Given the description of an element on the screen output the (x, y) to click on. 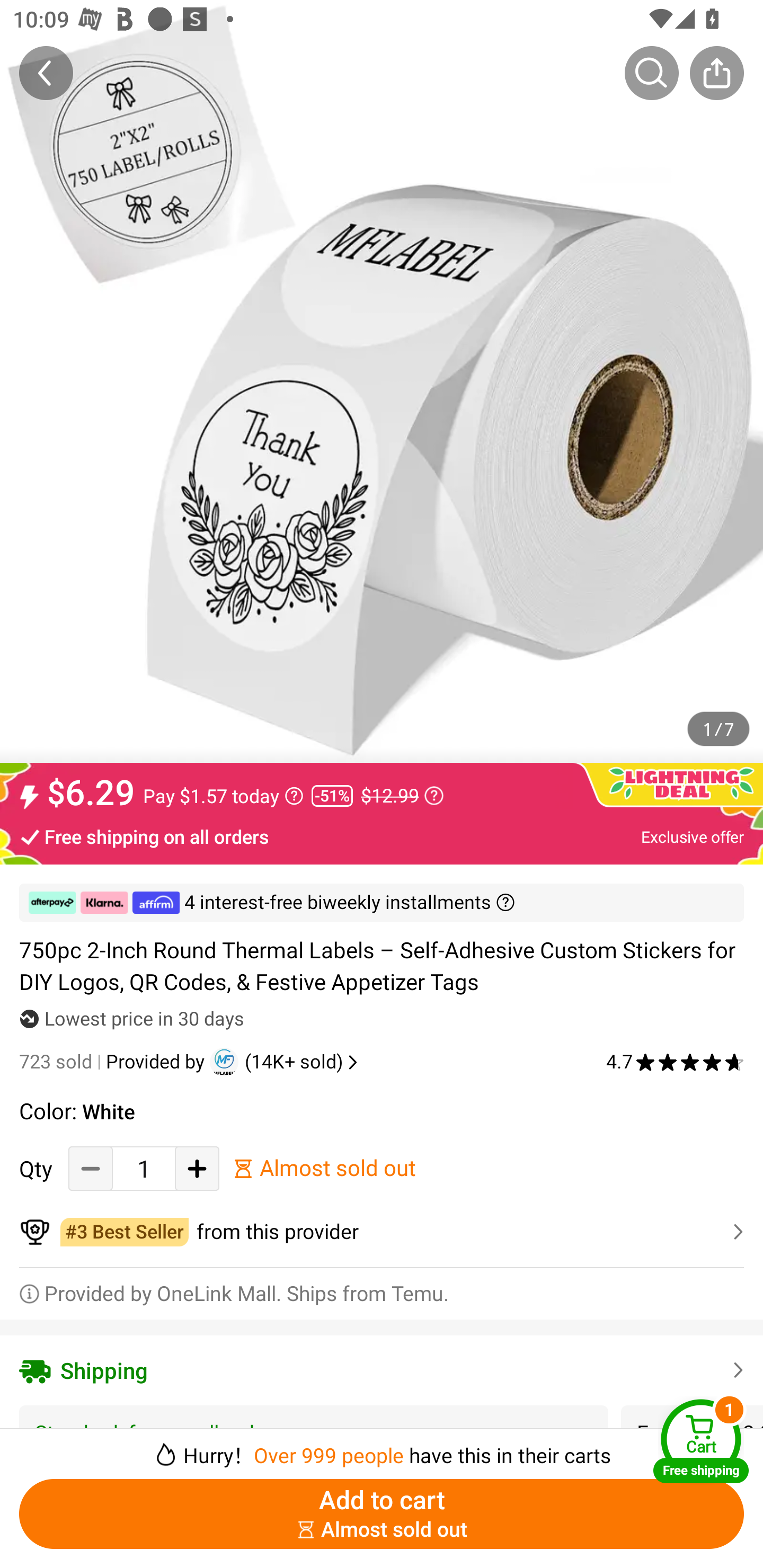
Back (46, 72)
Share (716, 72)
Pay $1.57 today   (223, 795)
Free shipping on all orders Exclusive offer (381, 836)
￼ ￼ ￼ 4 interest-free biweekly installments ￼ (381, 902)
4.7 (674, 1061)
Decrease Quantity Button (90, 1168)
1 (143, 1168)
Add Quantity button (196, 1168)
￼￼from this provider (381, 1231)
Shipping (381, 1369)
Cart Free shipping Cart (701, 1440)
￼￼Hurry！Over 999 people have this in their carts (381, 1448)
Add to cart ￼￼Almost sold out (381, 1513)
